Given the description of an element on the screen output the (x, y) to click on. 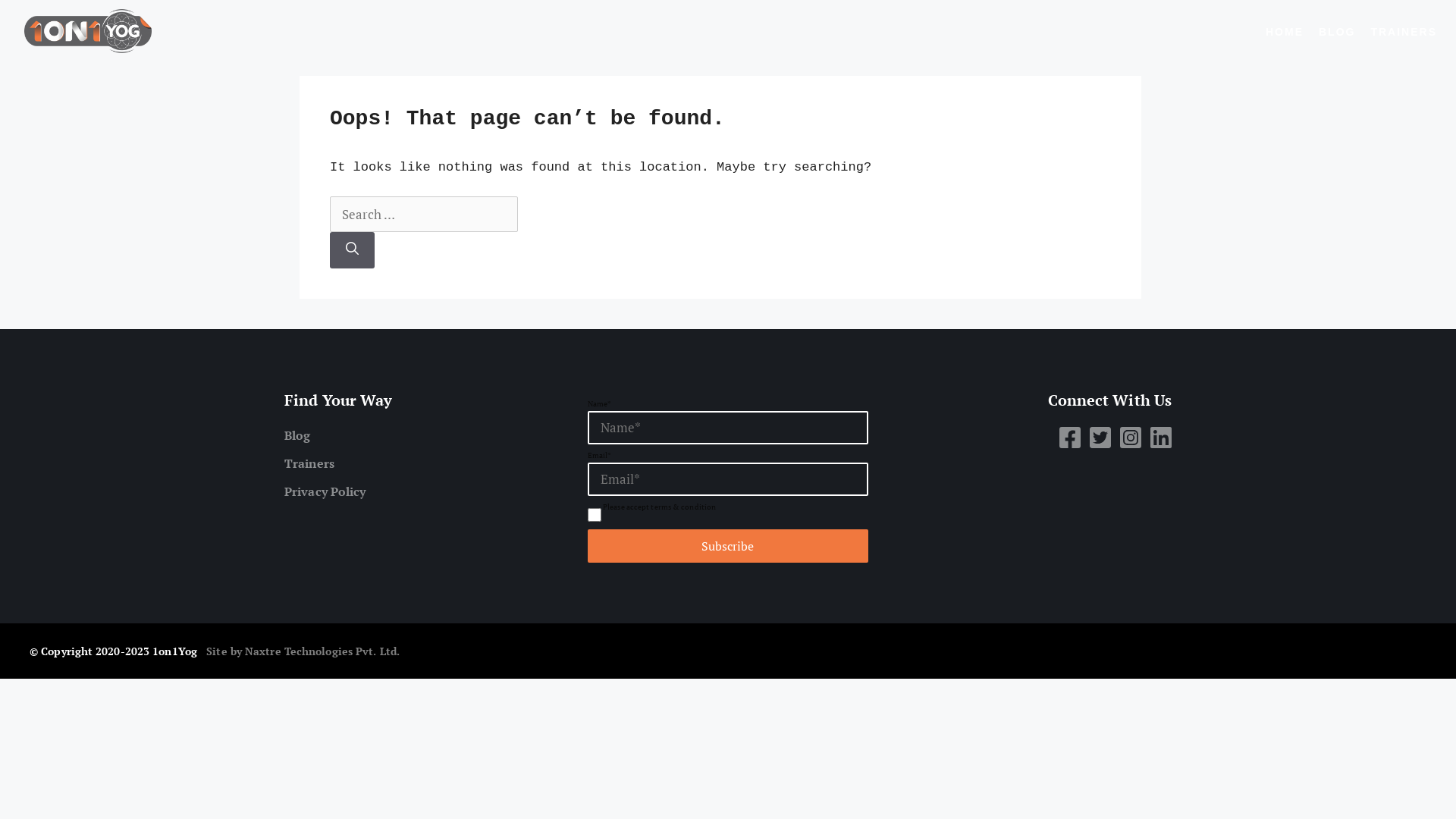
HOME Element type: text (1284, 31)
TRAINERS Element type: text (1403, 31)
Search for: Element type: hover (423, 214)
Subscribe Element type: text (727, 545)
Site by Naxtre Technologies Pvt. Ltd. Element type: text (302, 650)
Blog Element type: text (424, 435)
Privacy Policy Element type: text (424, 491)
Trainers Element type: text (424, 463)
BLOG Element type: text (1336, 31)
